Given the description of an element on the screen output the (x, y) to click on. 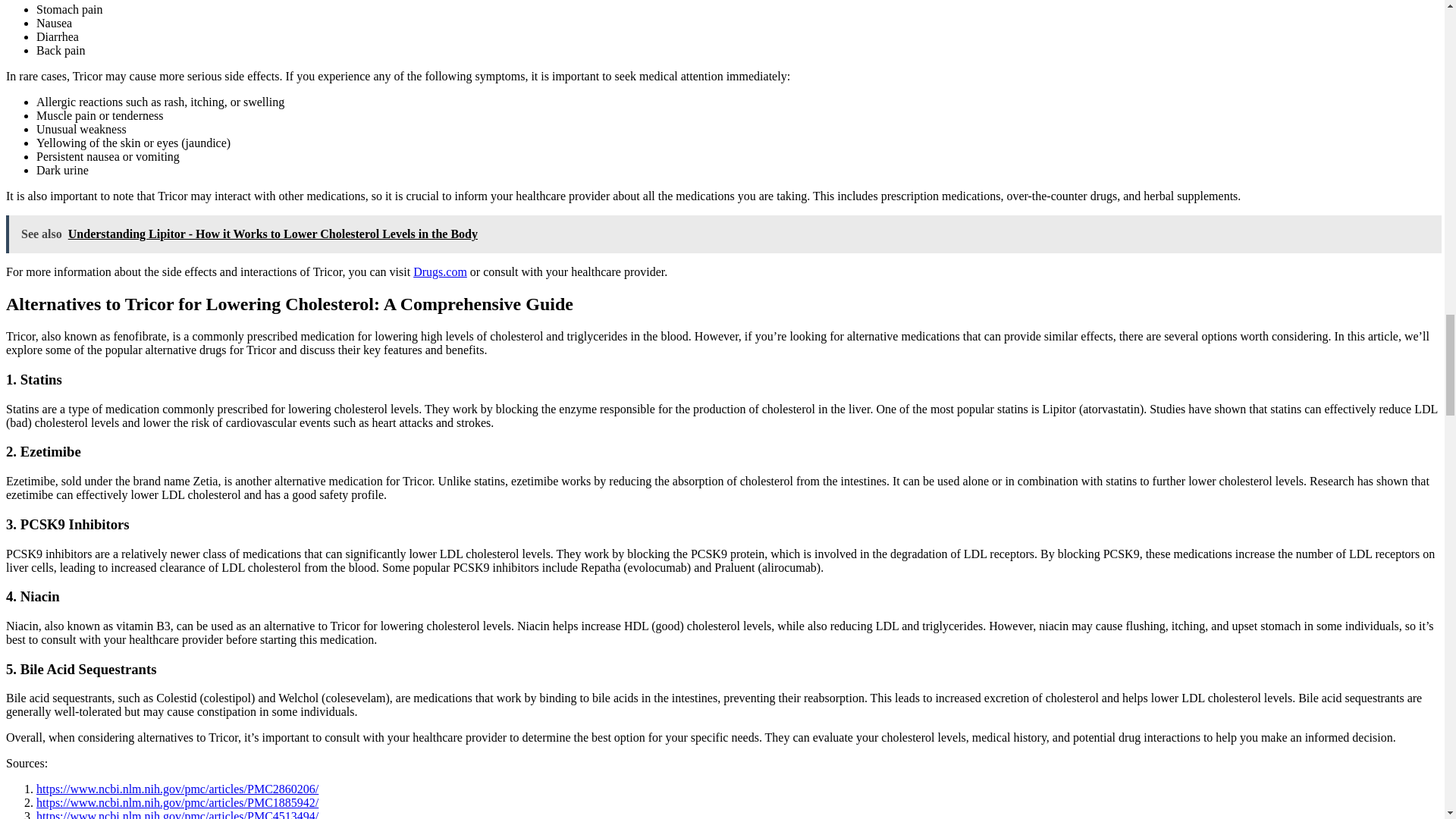
Drugs.com (440, 271)
